Given the description of an element on the screen output the (x, y) to click on. 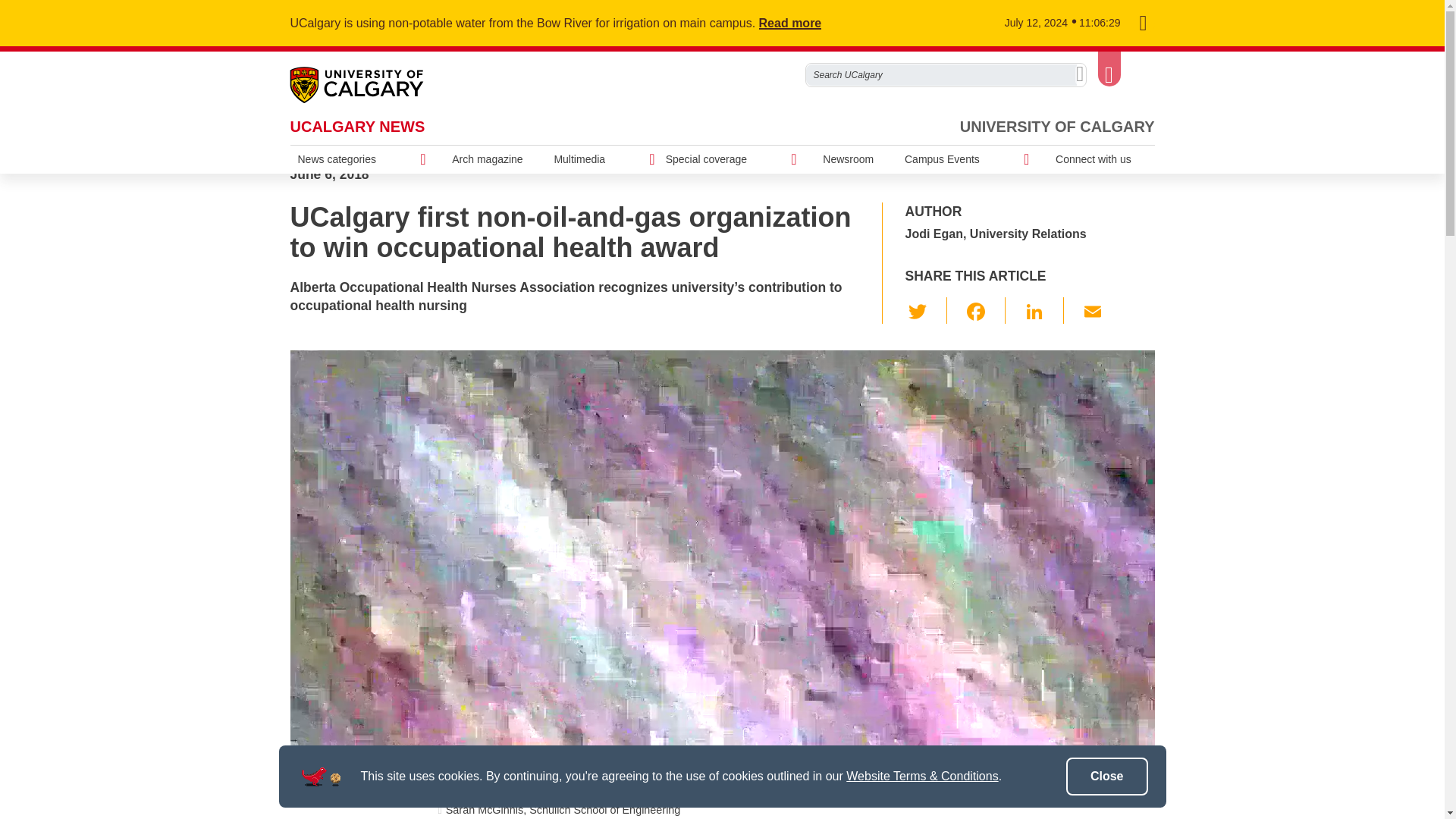
Read more (799, 22)
Toggle Site Alert Message (1142, 23)
Close (1106, 776)
